Given the description of an element on the screen output the (x, y) to click on. 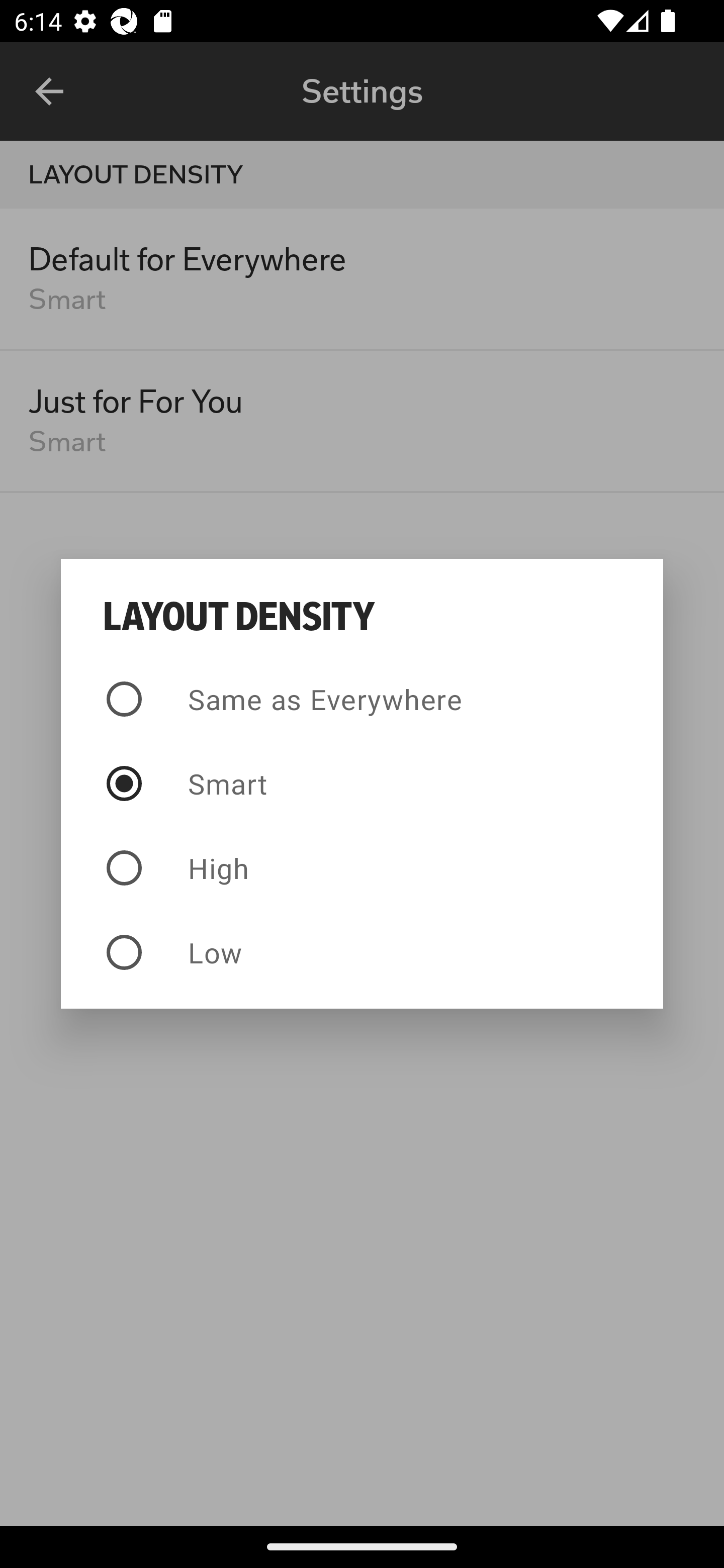
Same as Everywhere (361, 698)
Smart (361, 783)
High (361, 867)
Low (361, 951)
